Given the description of an element on the screen output the (x, y) to click on. 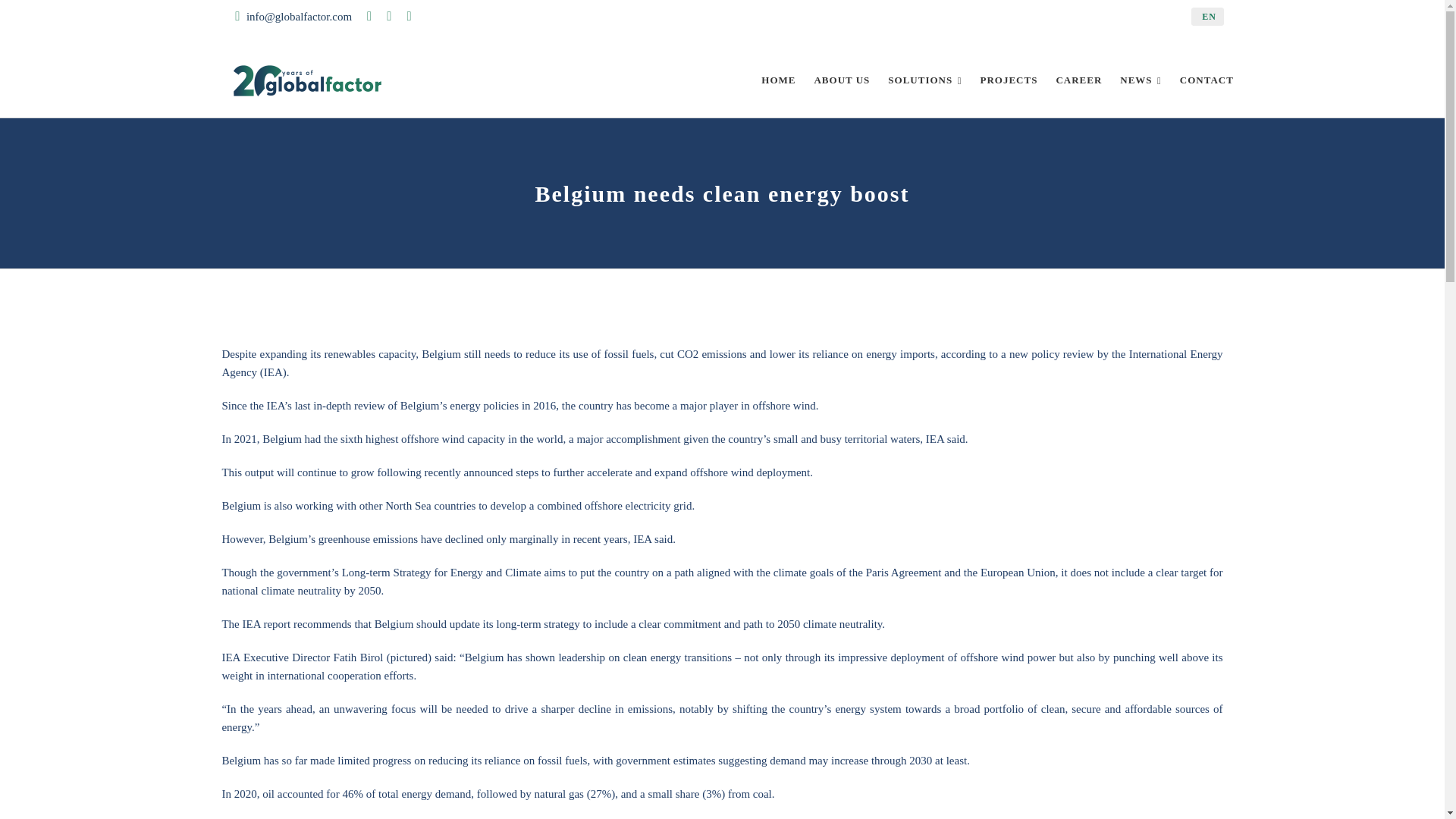
SOLUTIONS (925, 81)
PROJECTS (1008, 81)
EN (1207, 16)
EN (1207, 16)
CONTACT (1206, 81)
ABOUT US (842, 81)
